Given the description of an element on the screen output the (x, y) to click on. 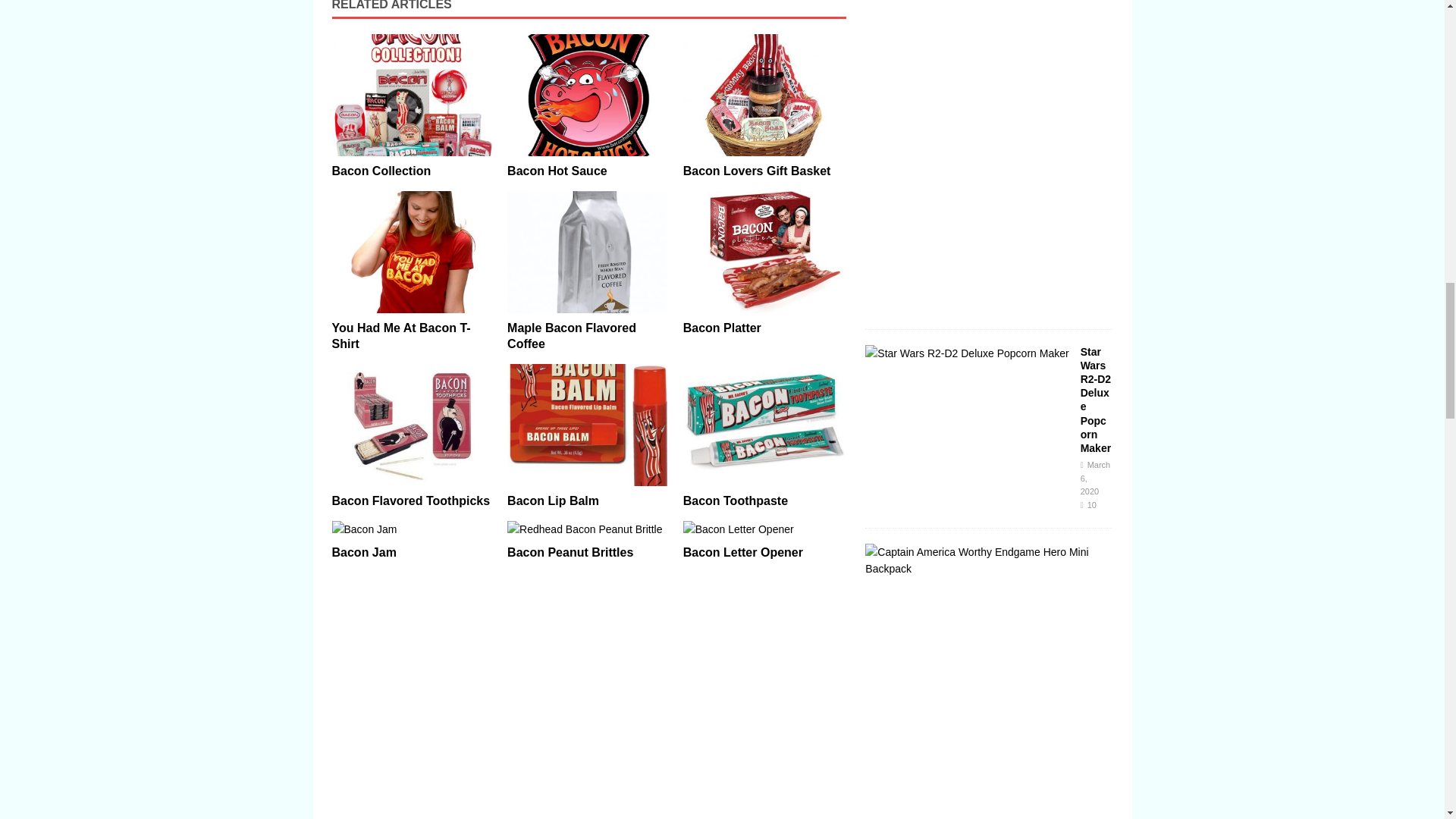
Bacon Collection (380, 170)
Bacon Hot Sauce (587, 95)
Bacon Collection (413, 95)
